Given the description of an element on the screen output the (x, y) to click on. 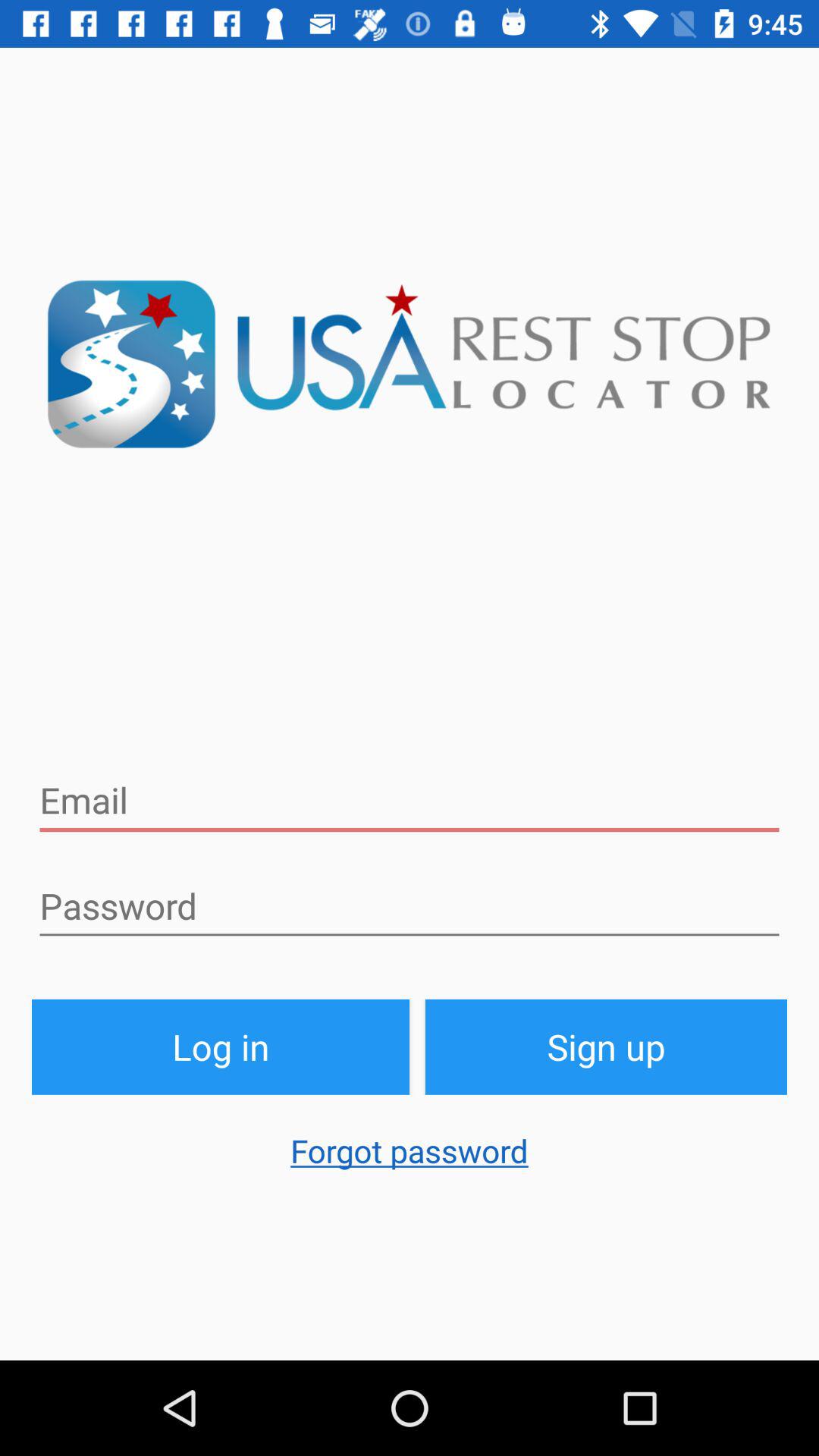
turn off the log in icon (220, 1046)
